Given the description of an element on the screen output the (x, y) to click on. 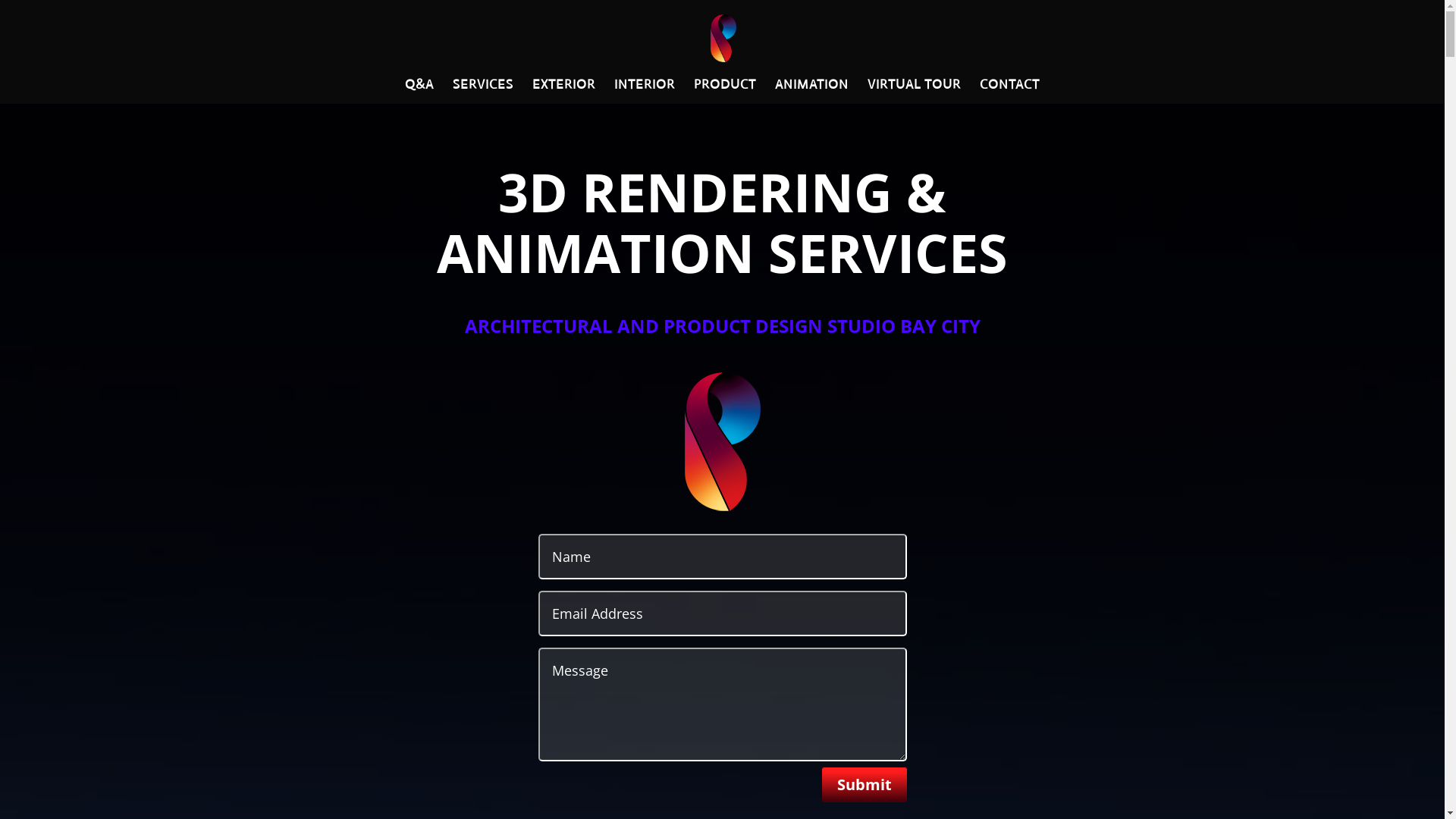
Q&A Element type: text (418, 91)
CONTACT Element type: text (1009, 91)
VIRTUAL TOUR Element type: text (913, 91)
PRODUCT Element type: text (724, 91)
ANIMATION Element type: text (811, 91)
INTERIOR Element type: text (644, 91)
Submit Element type: text (864, 784)
EXTERIOR Element type: text (563, 91)
SERVICES Element type: text (482, 91)
